Given the description of an element on the screen output the (x, y) to click on. 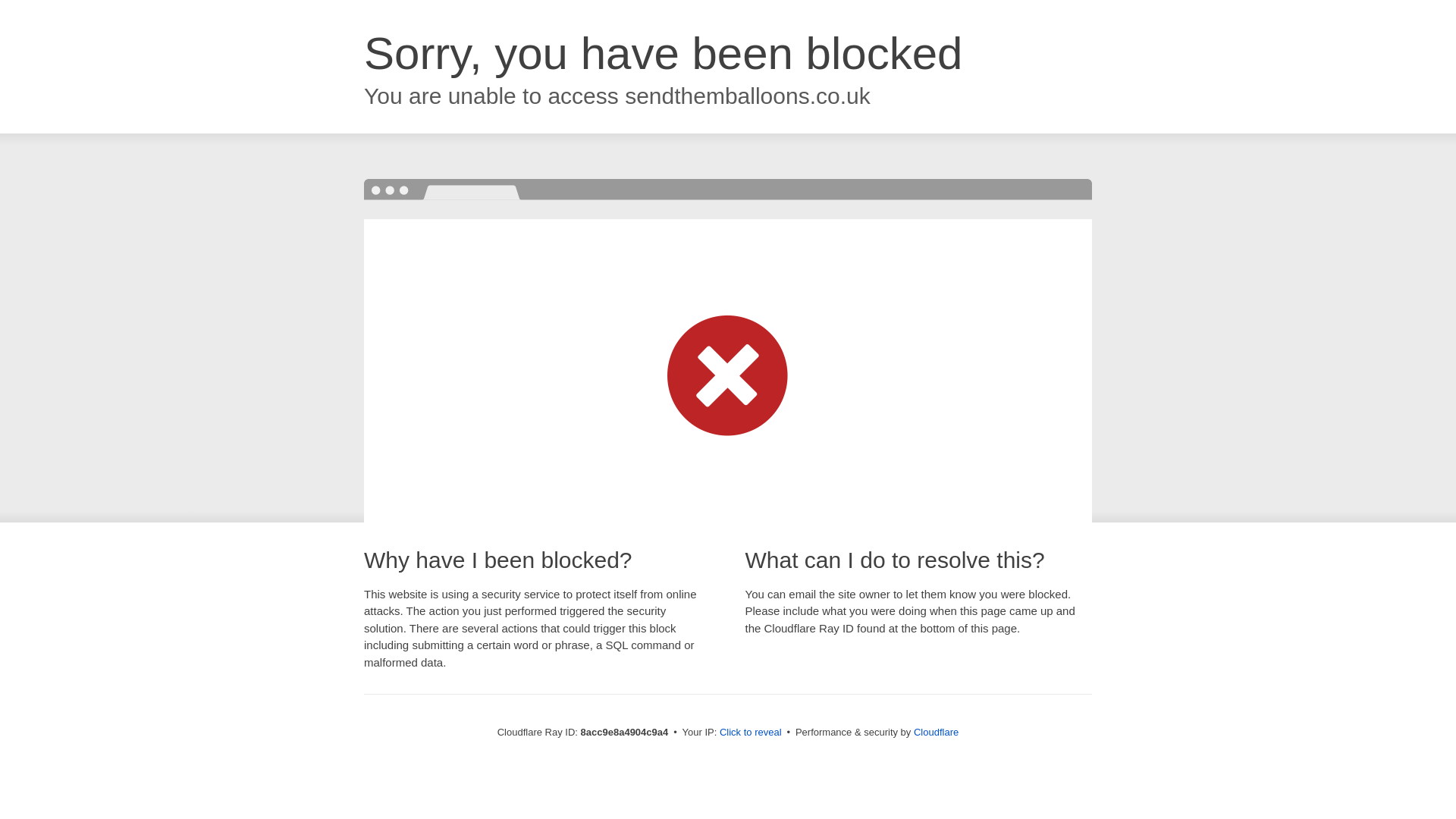
Click to reveal (750, 732)
Cloudflare (936, 731)
